Given the description of an element on the screen output the (x, y) to click on. 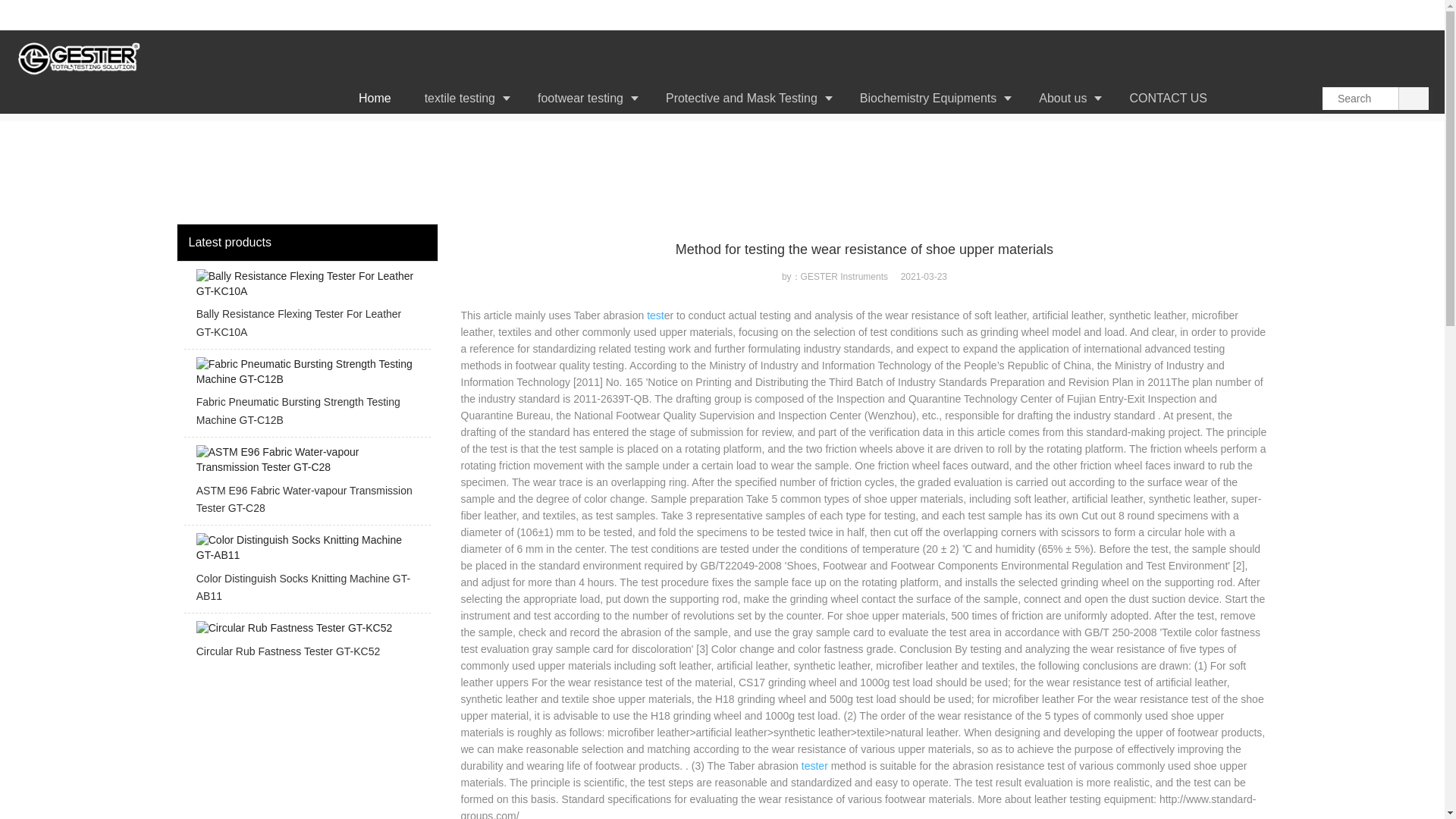
Home (374, 98)
textile testing (464, 98)
